Given the description of an element on the screen output the (x, y) to click on. 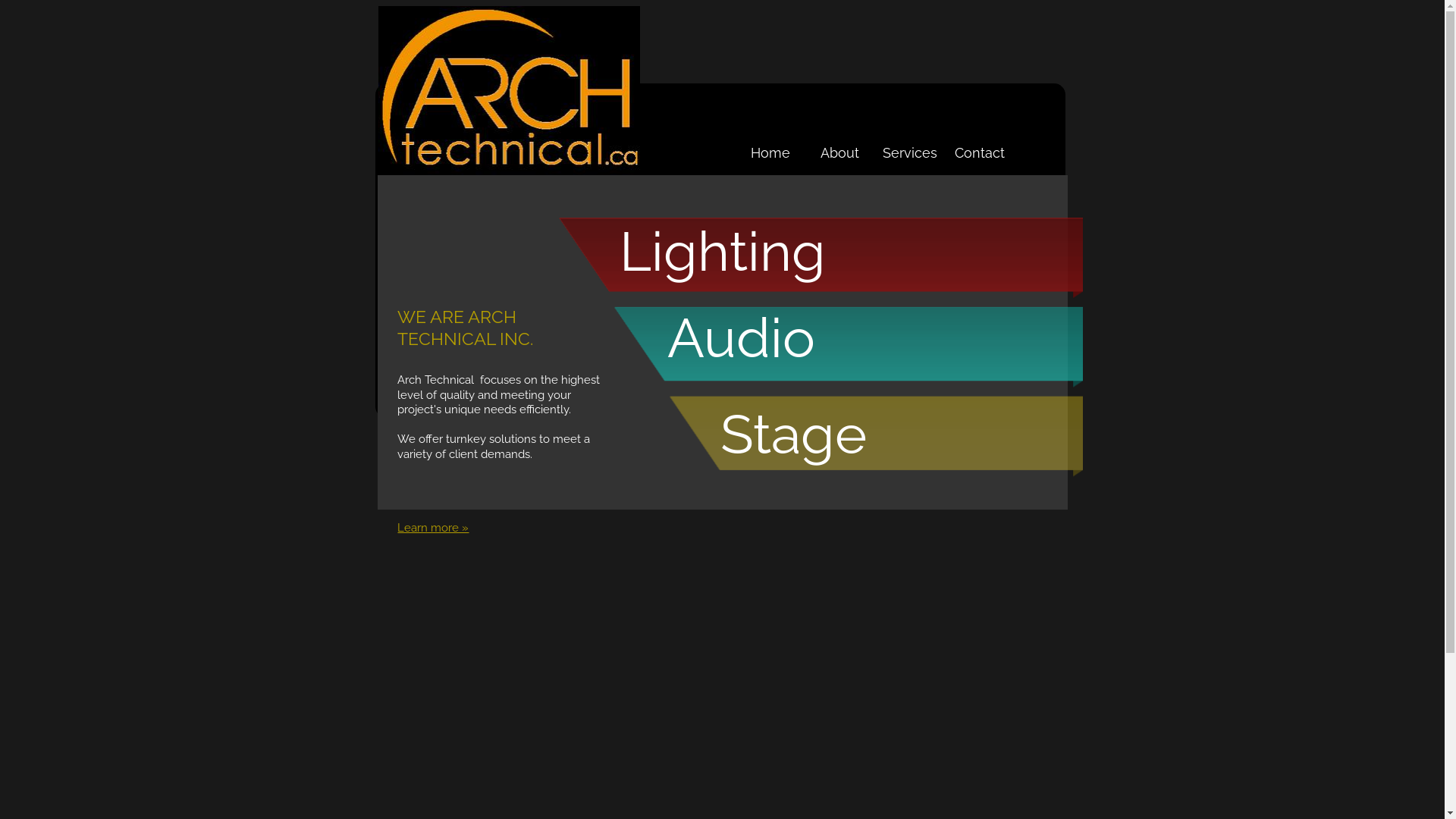
Services Element type: text (909, 152)
About Element type: text (840, 152)
Contact Element type: text (979, 152)
Home Element type: text (770, 152)
